Given the description of an element on the screen output the (x, y) to click on. 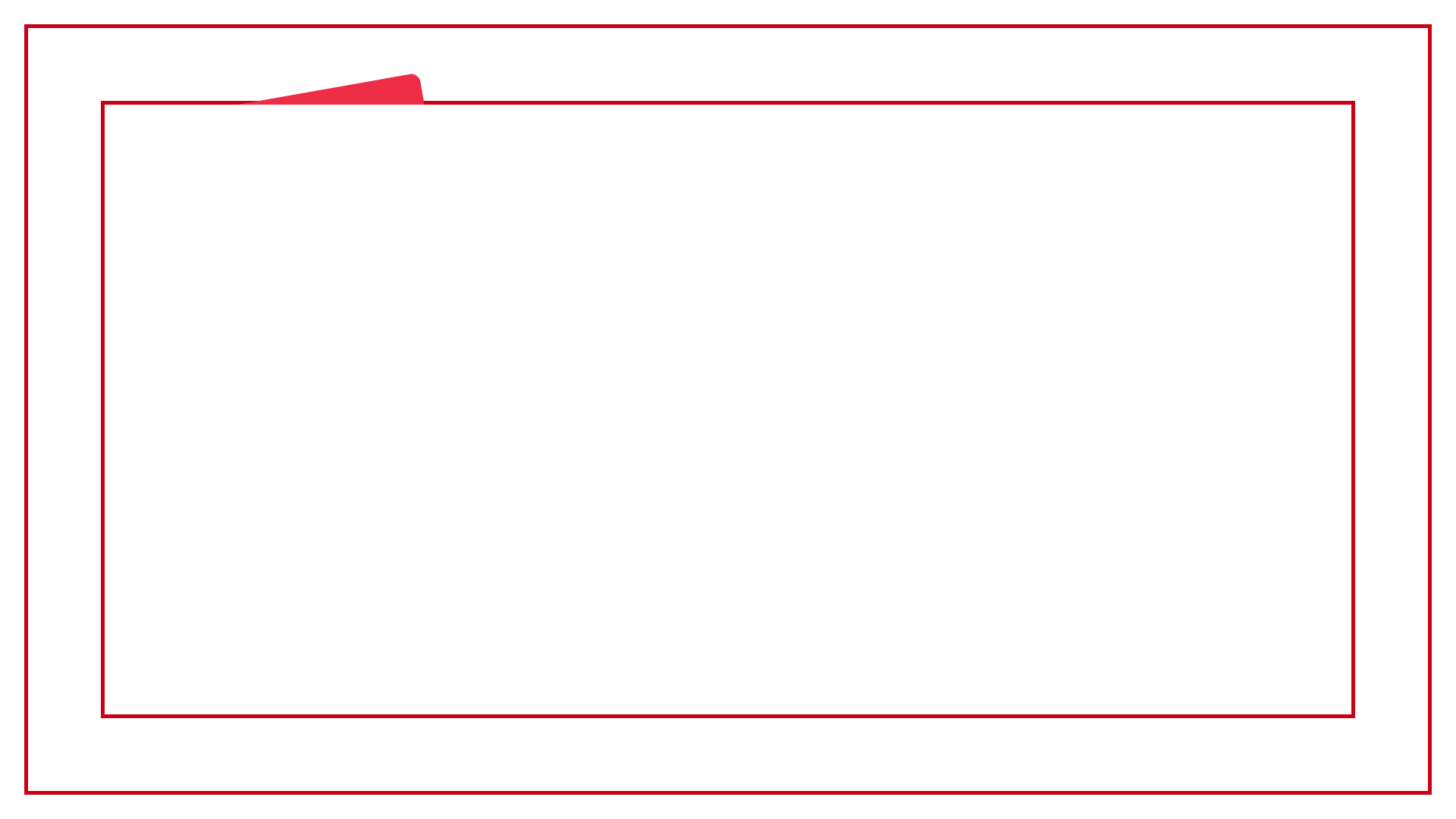
MENU Element type: text (1285, 566)
INSTAGRAM Element type: text (654, 654)
Simple Element type: text (1278, 658)
FACEBOOK Element type: text (814, 654)
LOCATIONS Element type: text (170, 513)
CATERING Element type: text (170, 263)
ABOUT Element type: text (1285, 231)
MENU Element type: text (727, 161)
Privacy Element type: text (233, 658)
Website Element type: text (1197, 658)
